Given the description of an element on the screen output the (x, y) to click on. 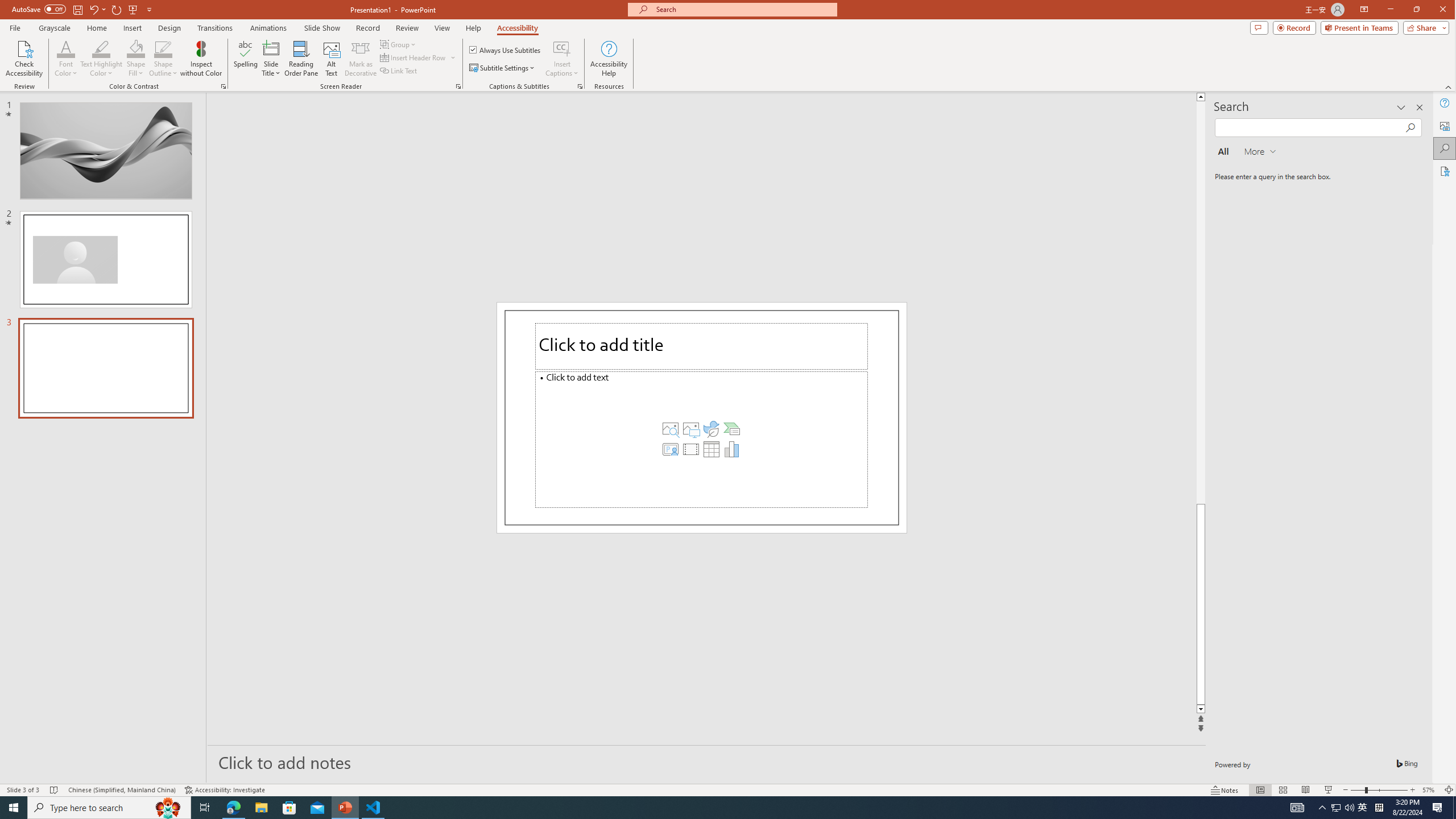
Screen Reader (458, 85)
Content Placeholder (700, 438)
Insert Header Row (418, 56)
Grayscale (54, 28)
Group (398, 44)
Stock Images (669, 428)
